Given the description of an element on the screen output the (x, y) to click on. 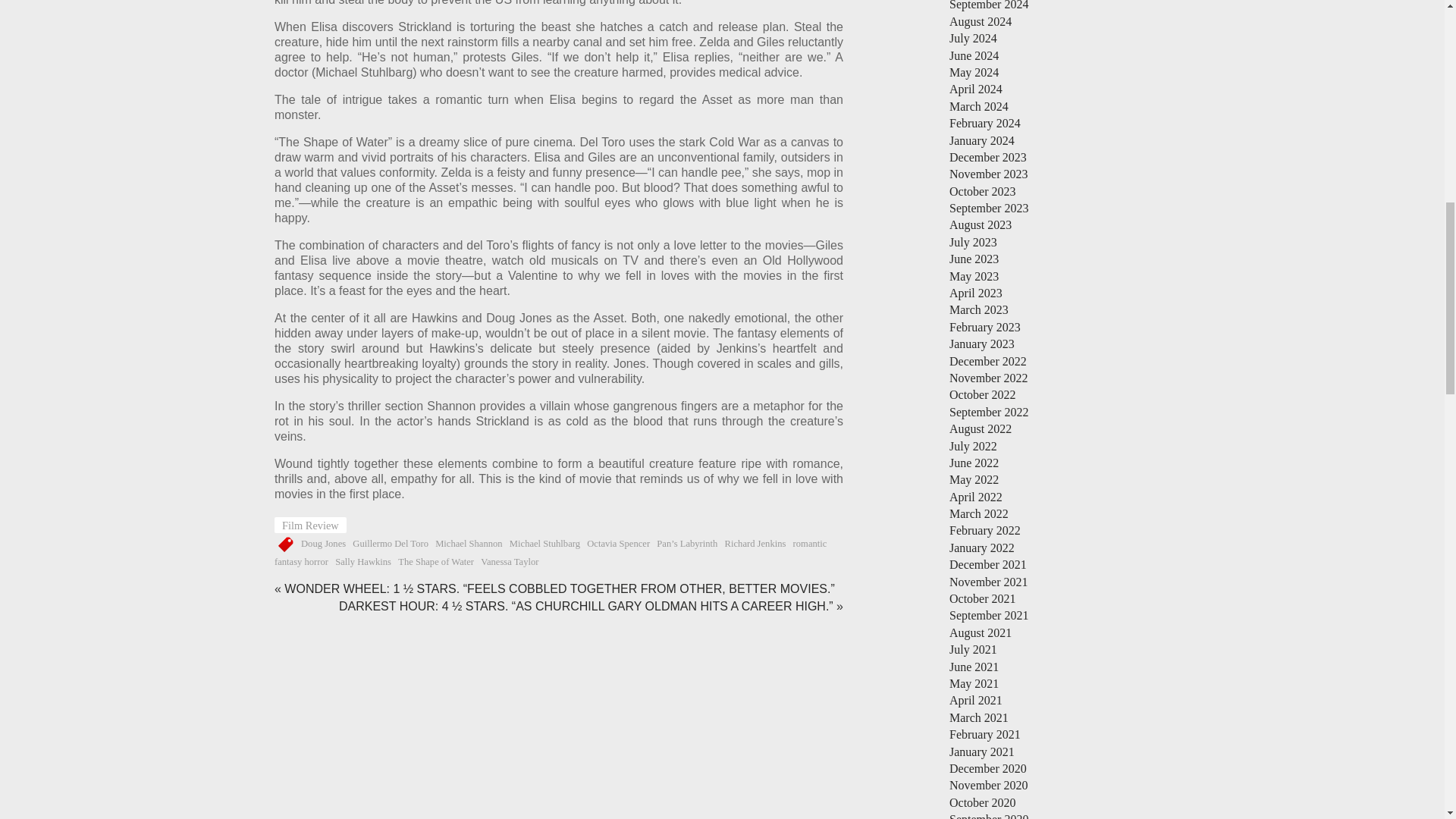
Sally Hawkins (362, 561)
Vanessa Taylor (509, 561)
The Shape of Water (435, 561)
romantic fantasy horror (551, 552)
Richard Jenkins (755, 543)
Doug Jones (323, 543)
Guillermo Del Toro (390, 543)
Michael Stuhlbarg (544, 543)
Octavia Spencer (617, 543)
Film Review (310, 524)
